Given the description of an element on the screen output the (x, y) to click on. 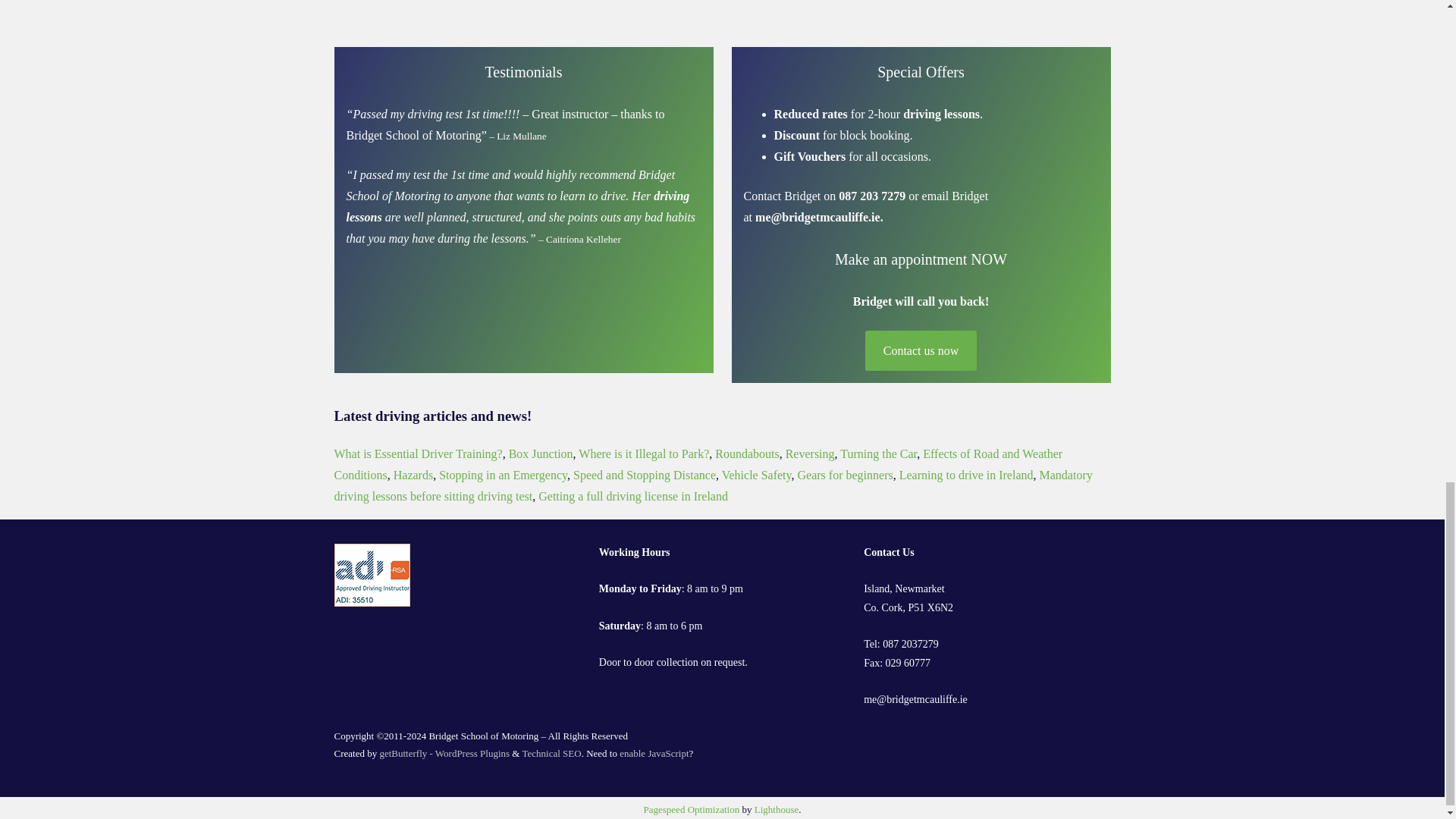
Hazards (412, 474)
Roundabouts (746, 453)
Contact us now (919, 350)
Effects of Road and Weather Conditions (697, 464)
Speed and Stopping Distance (644, 474)
Box Junction (540, 453)
Turning the Car (878, 453)
Reversing (810, 453)
Where is it Illegal to Park? (643, 453)
Gears for beginners (845, 474)
